Given the description of an element on the screen output the (x, y) to click on. 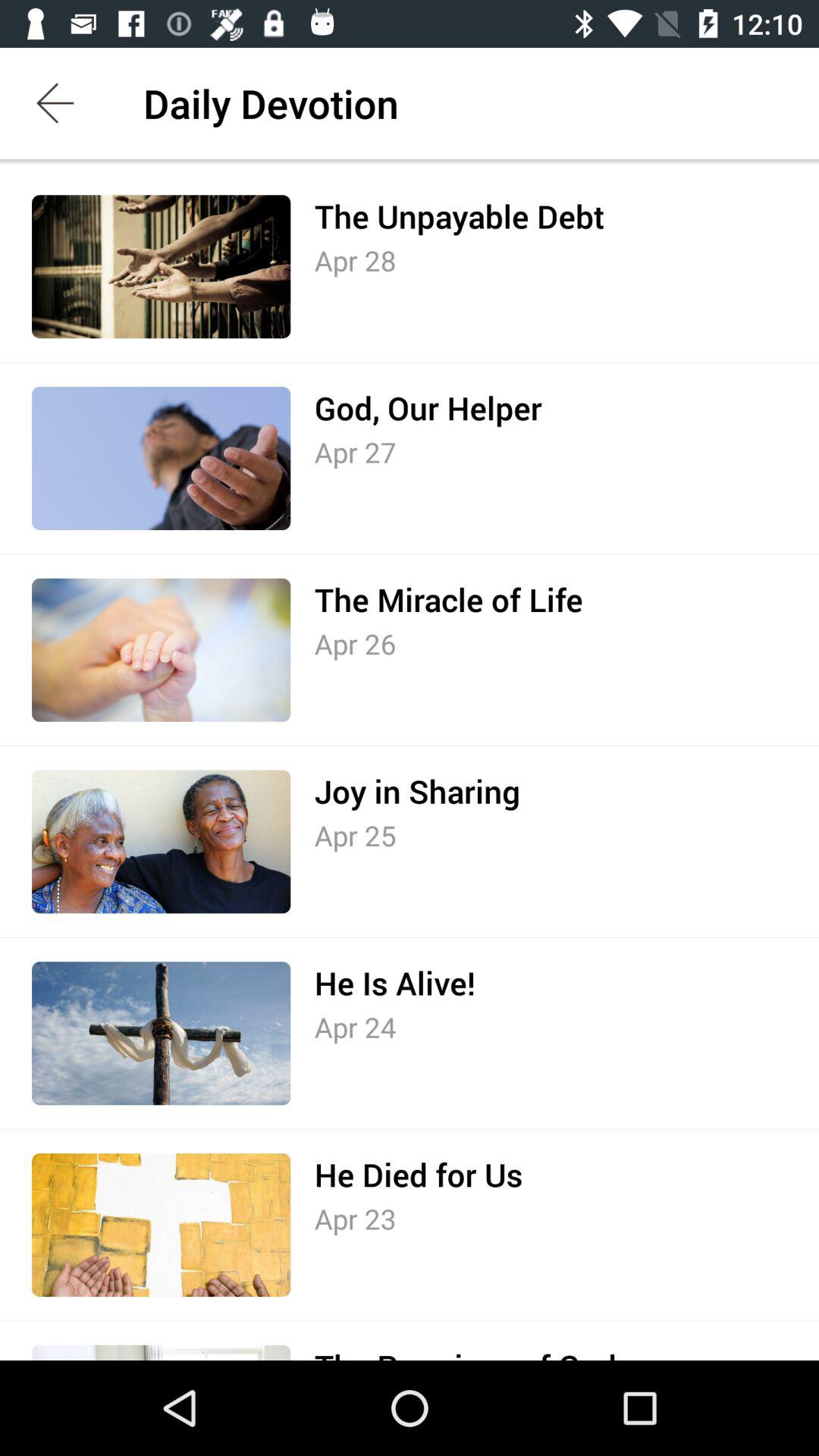
flip until apr 24 (355, 1026)
